Given the description of an element on the screen output the (x, y) to click on. 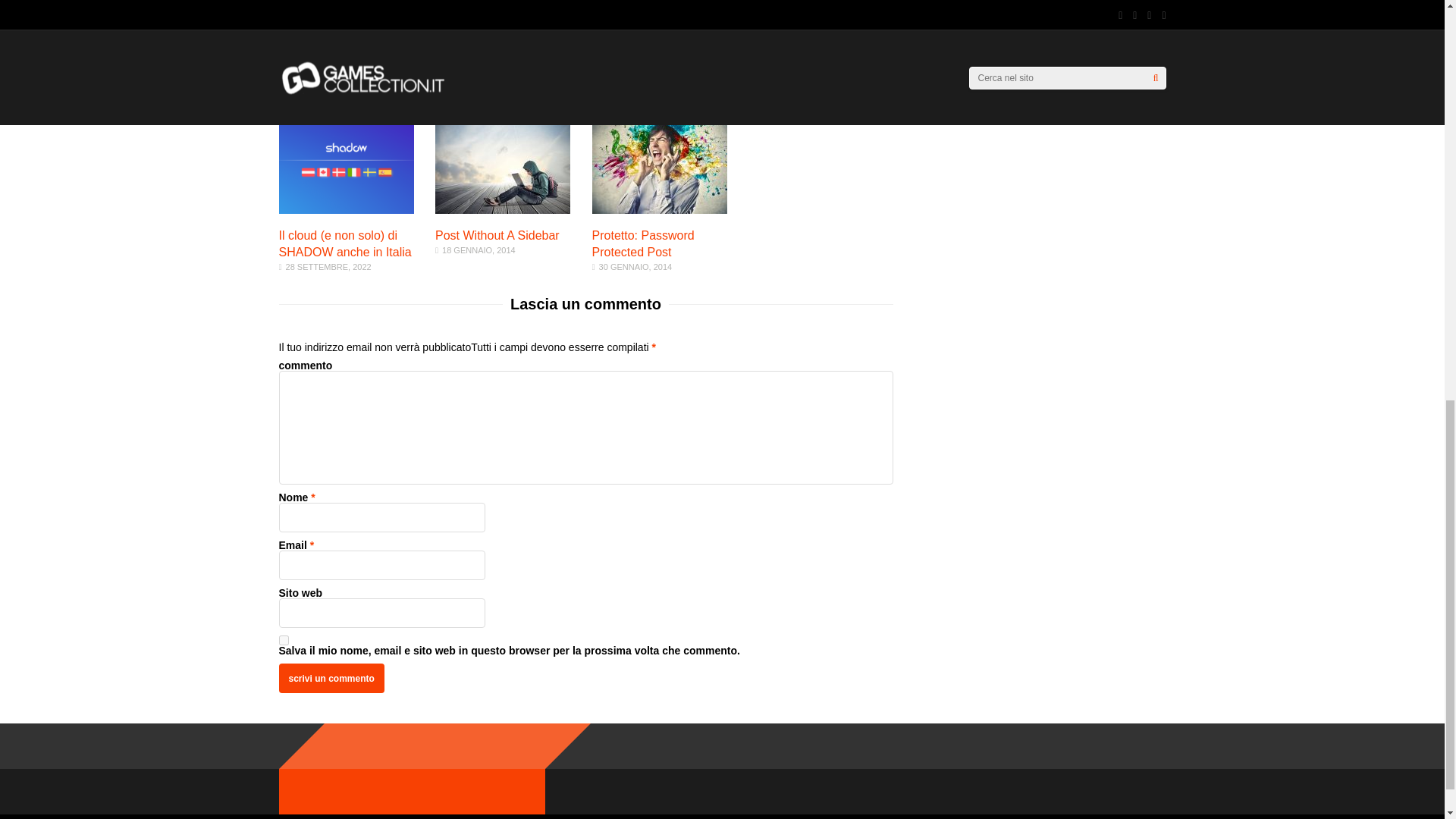
Protetto: Password Protected Post (643, 243)
Post Without A Sidebar (497, 235)
Post Without A Sidebar (497, 235)
Protetto: Password Protected Post (331, 677)
Protetto: Password Protected Post (659, 209)
yes (331, 677)
Post Without A Sidebar (643, 243)
